Given the description of an element on the screen output the (x, y) to click on. 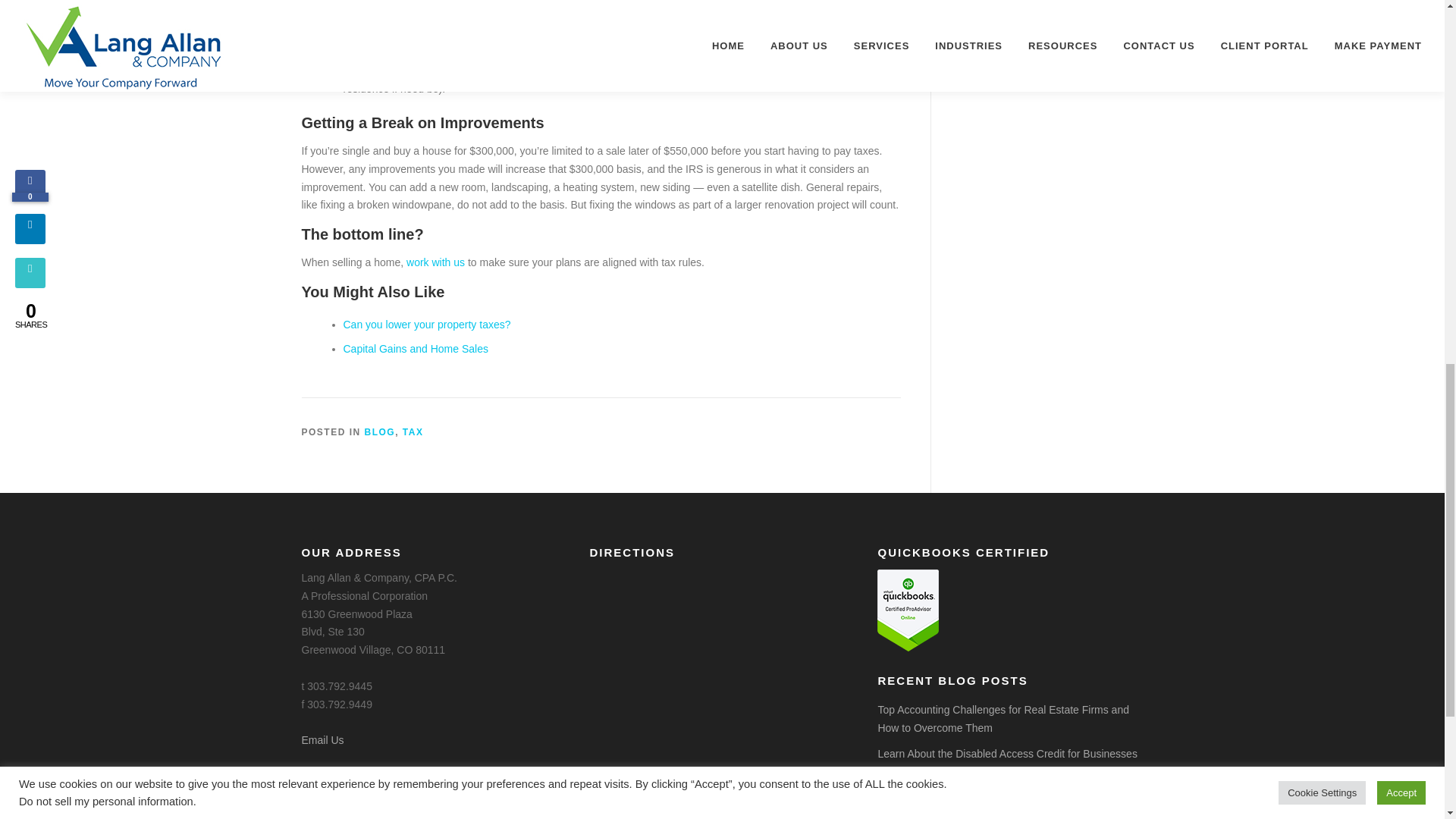
work with us (435, 262)
Can you lower your property taxes? (426, 324)
